Given the description of an element on the screen output the (x, y) to click on. 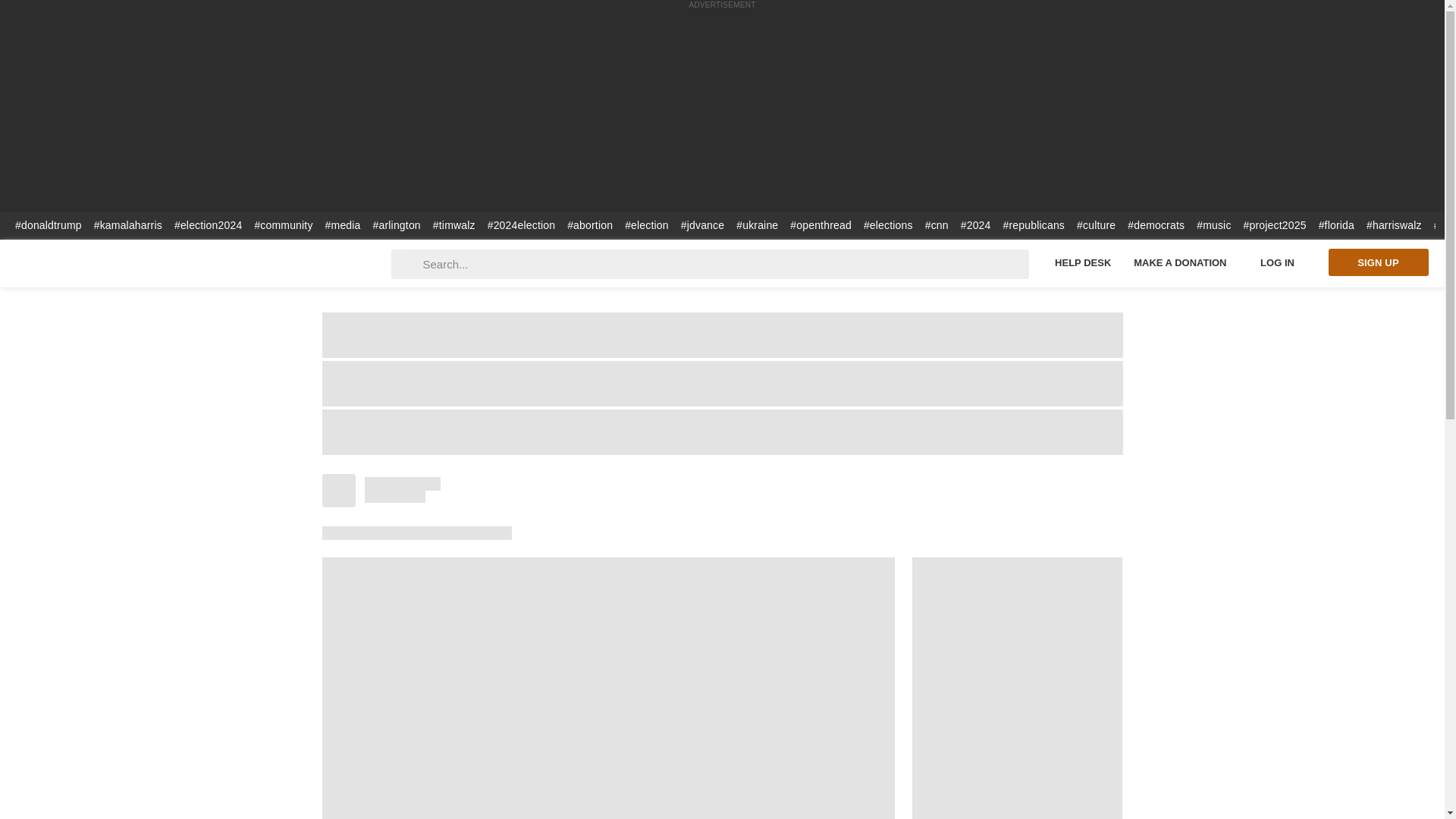
MAKE A DONATION (1179, 262)
Help Desk (1082, 262)
Make a Donation (1179, 262)
